Given the description of an element on the screen output the (x, y) to click on. 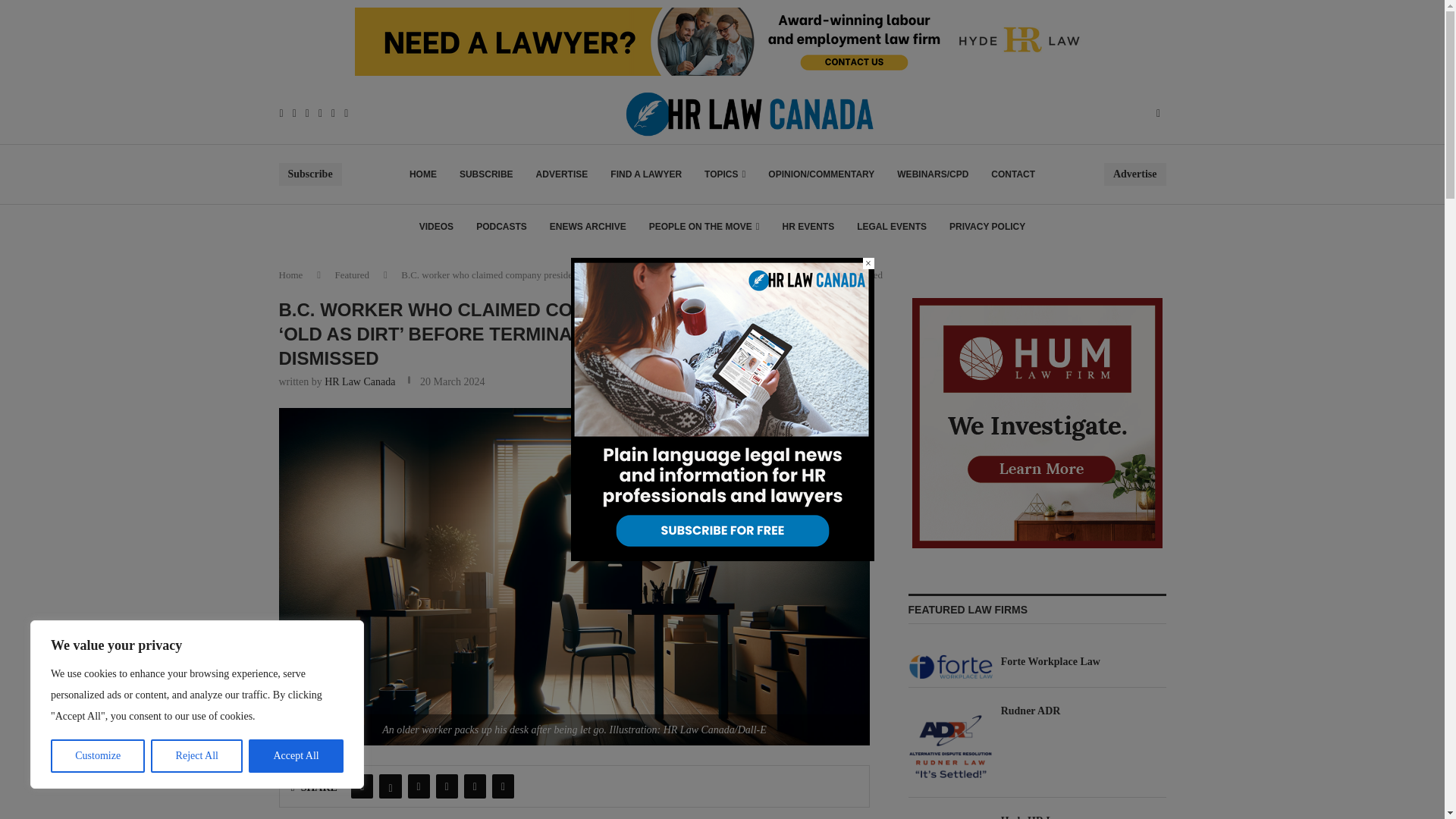
Customize (97, 756)
Reject All (197, 756)
HR Law Canada (359, 381)
Accept All (295, 756)
